Given the description of an element on the screen output the (x, y) to click on. 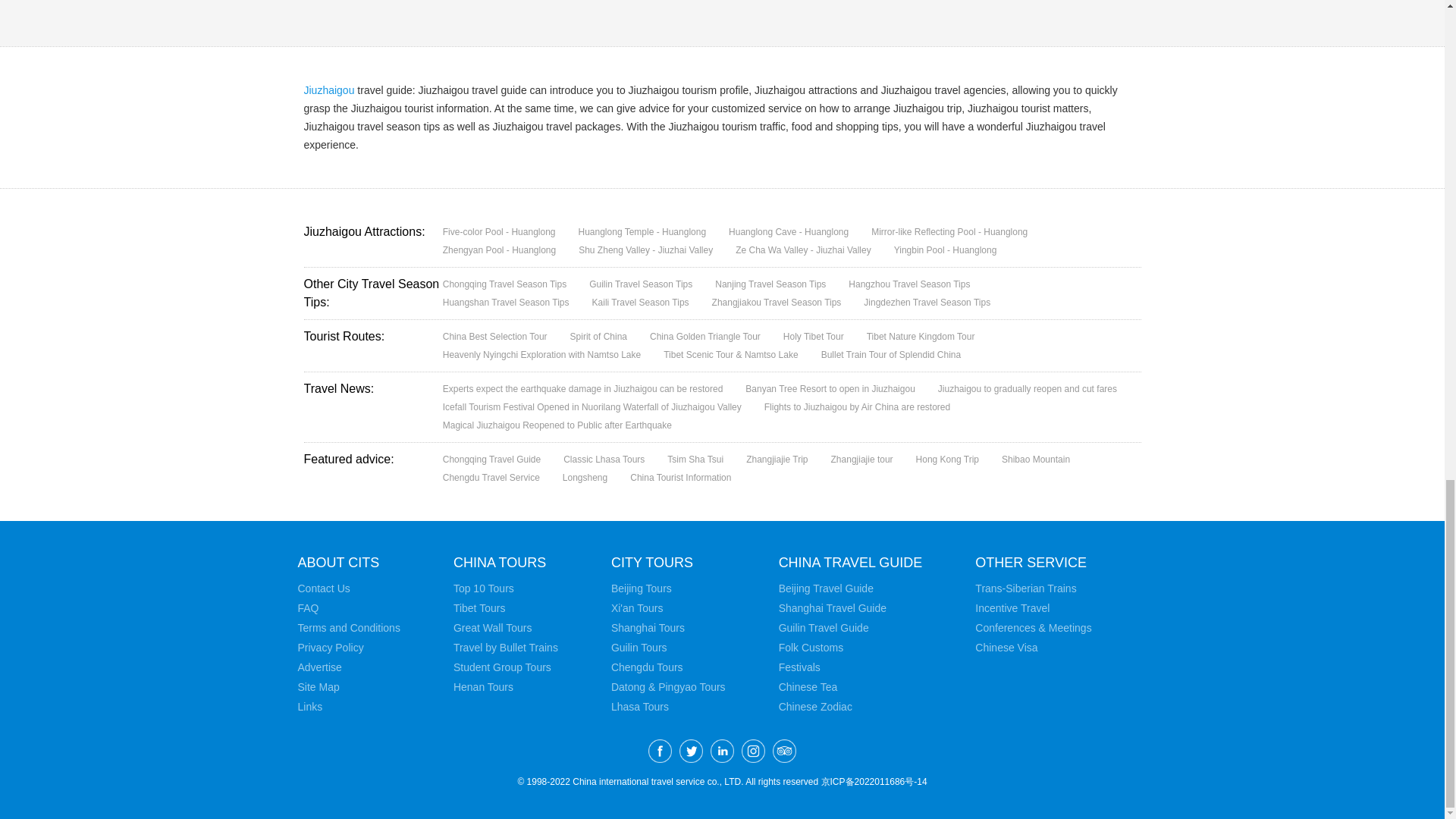
Jiuzhaigou (327, 90)
